Given the description of an element on the screen output the (x, y) to click on. 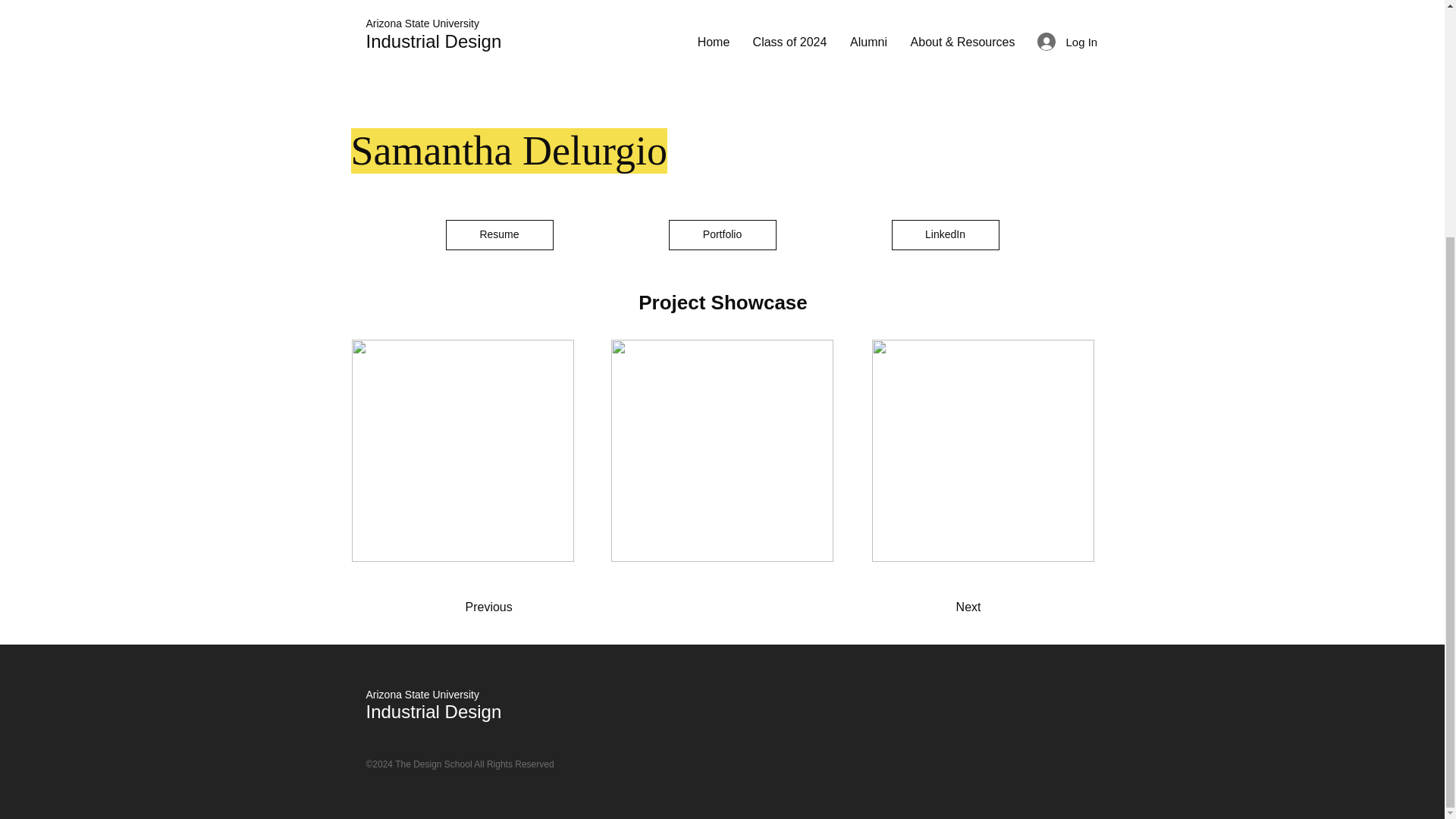
Previous (526, 607)
Industrial Design (432, 711)
Screen Shot 2022-04-25 at 3.23.27 PM.png (512, 57)
Next (928, 607)
Resume (499, 235)
Arizona State University (422, 694)
LinkedIn (944, 235)
Portfolio (722, 235)
